Given the description of an element on the screen output the (x, y) to click on. 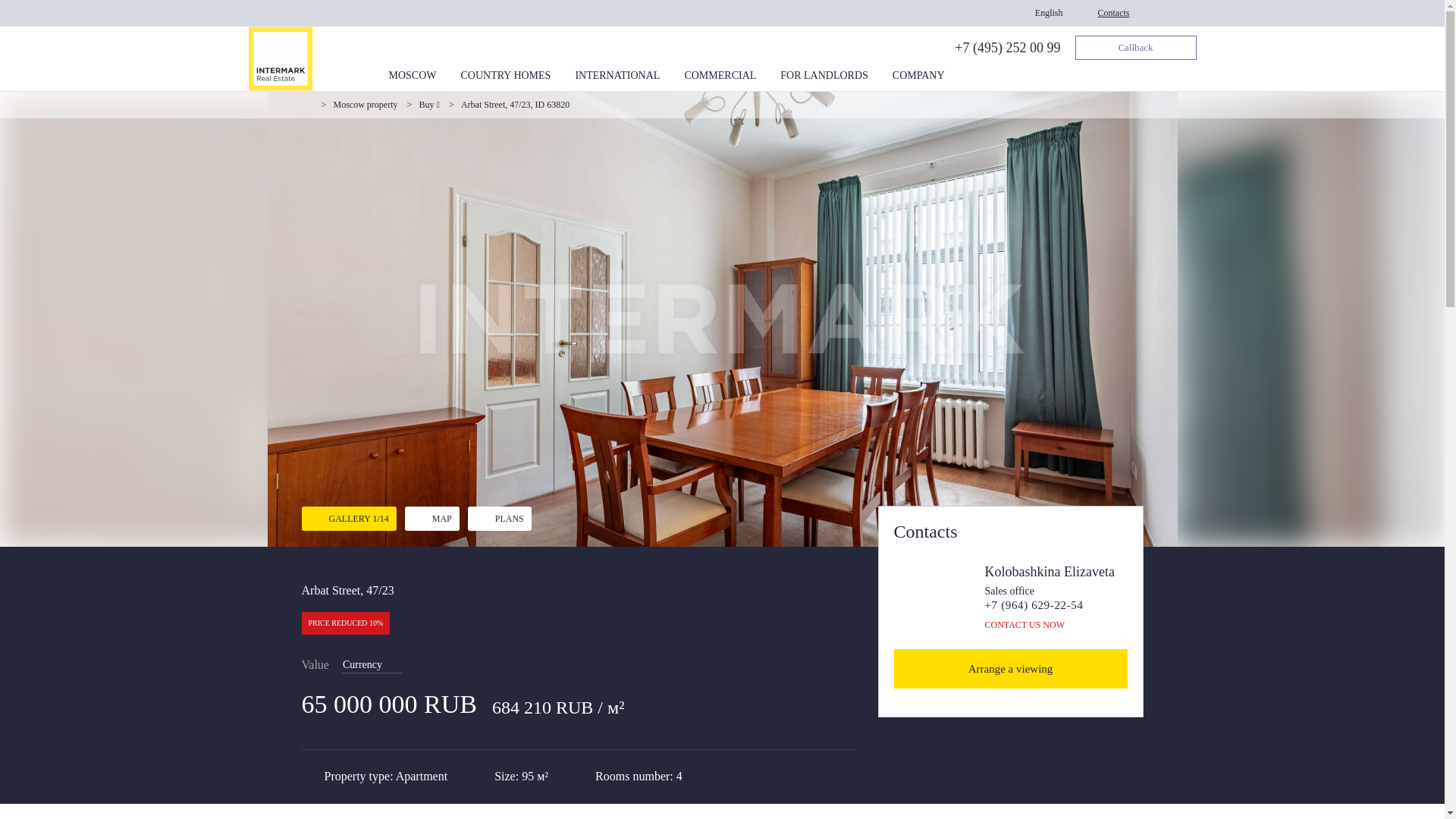
Callback (1135, 47)
COUNTRY HOMES (506, 80)
MOSCOW (411, 80)
Contacts (1113, 13)
INTERNATIONAL (617, 80)
